Given the description of an element on the screen output the (x, y) to click on. 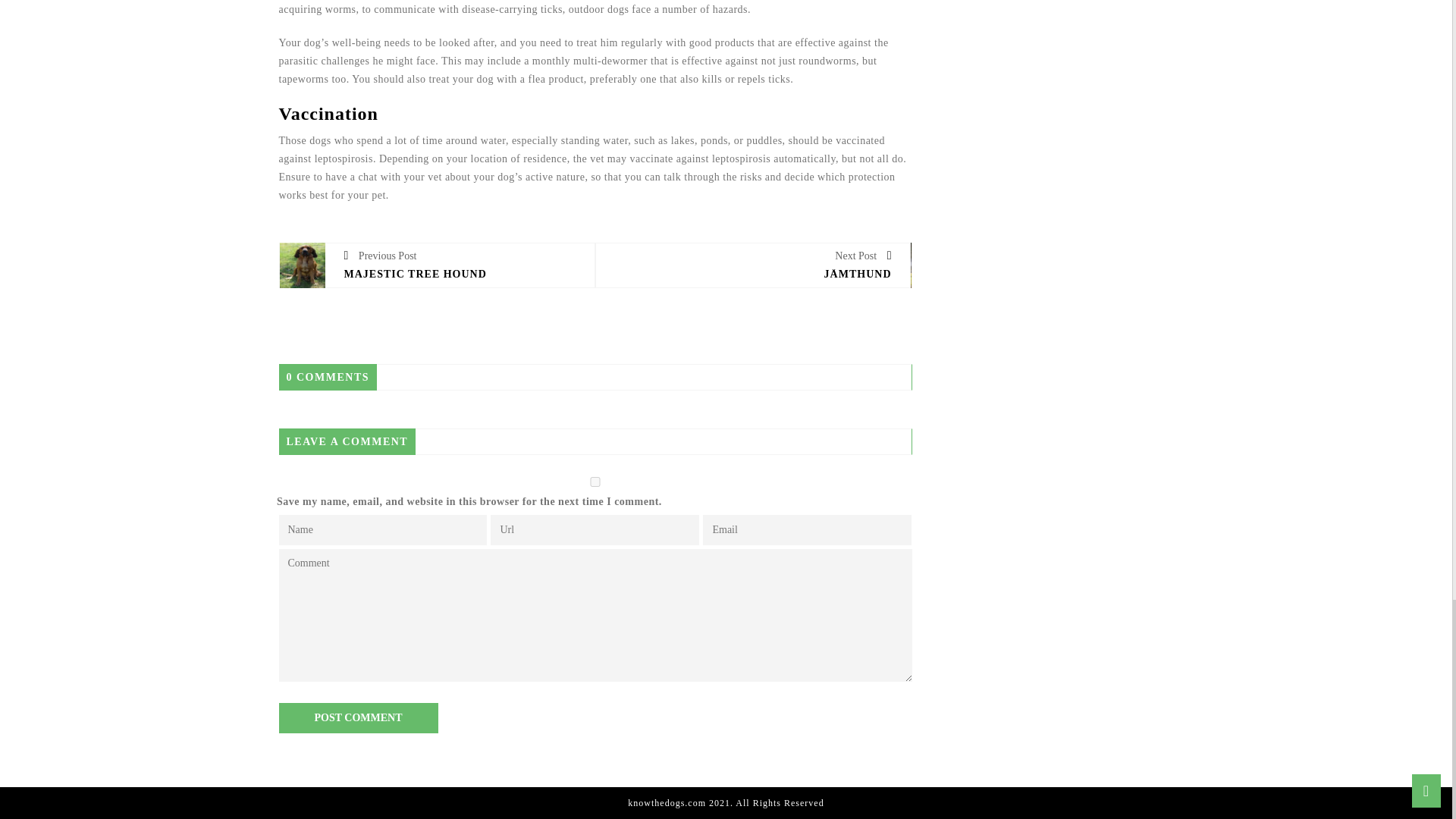
Post Comment (358, 717)
yes (595, 481)
